Given the description of an element on the screen output the (x, y) to click on. 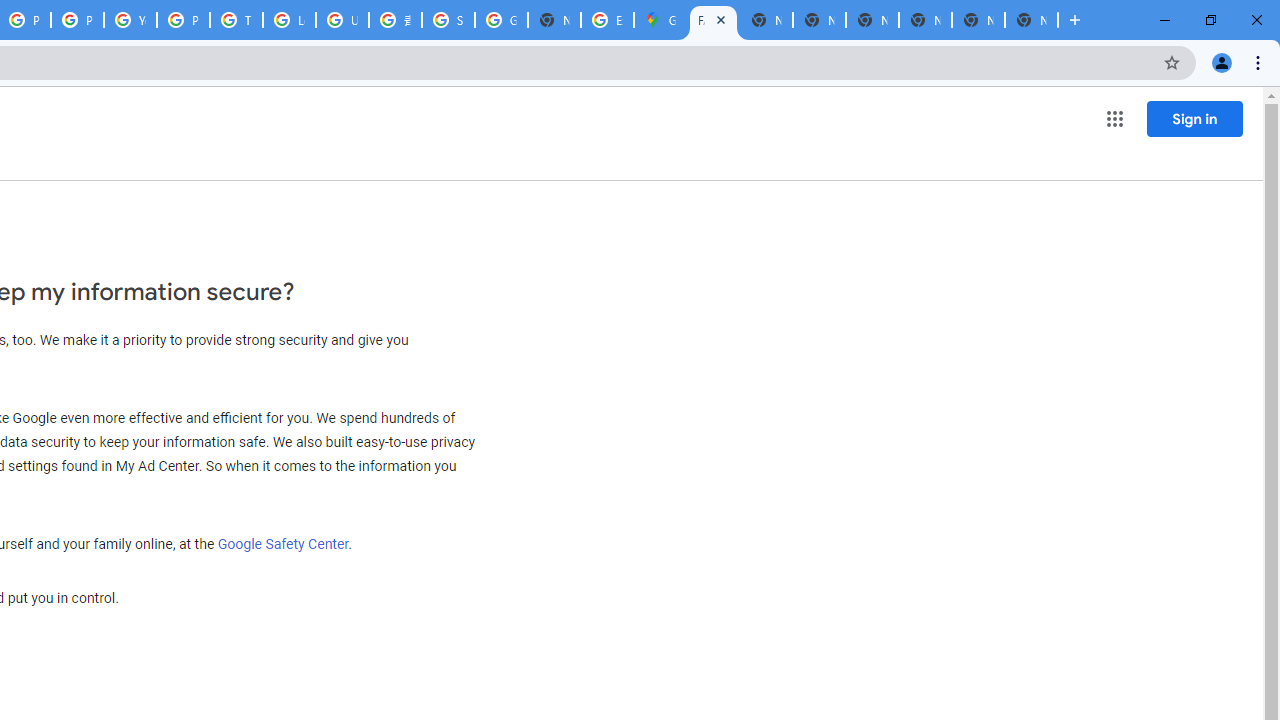
New Tab (554, 20)
Sign in - Google Accounts (448, 20)
New Tab (1031, 20)
Explore new street-level details - Google Maps Help (607, 20)
Google Maps (660, 20)
Tips & tricks for Chrome - Google Chrome Help (235, 20)
Google Safety Center (283, 543)
